Given the description of an element on the screen output the (x, y) to click on. 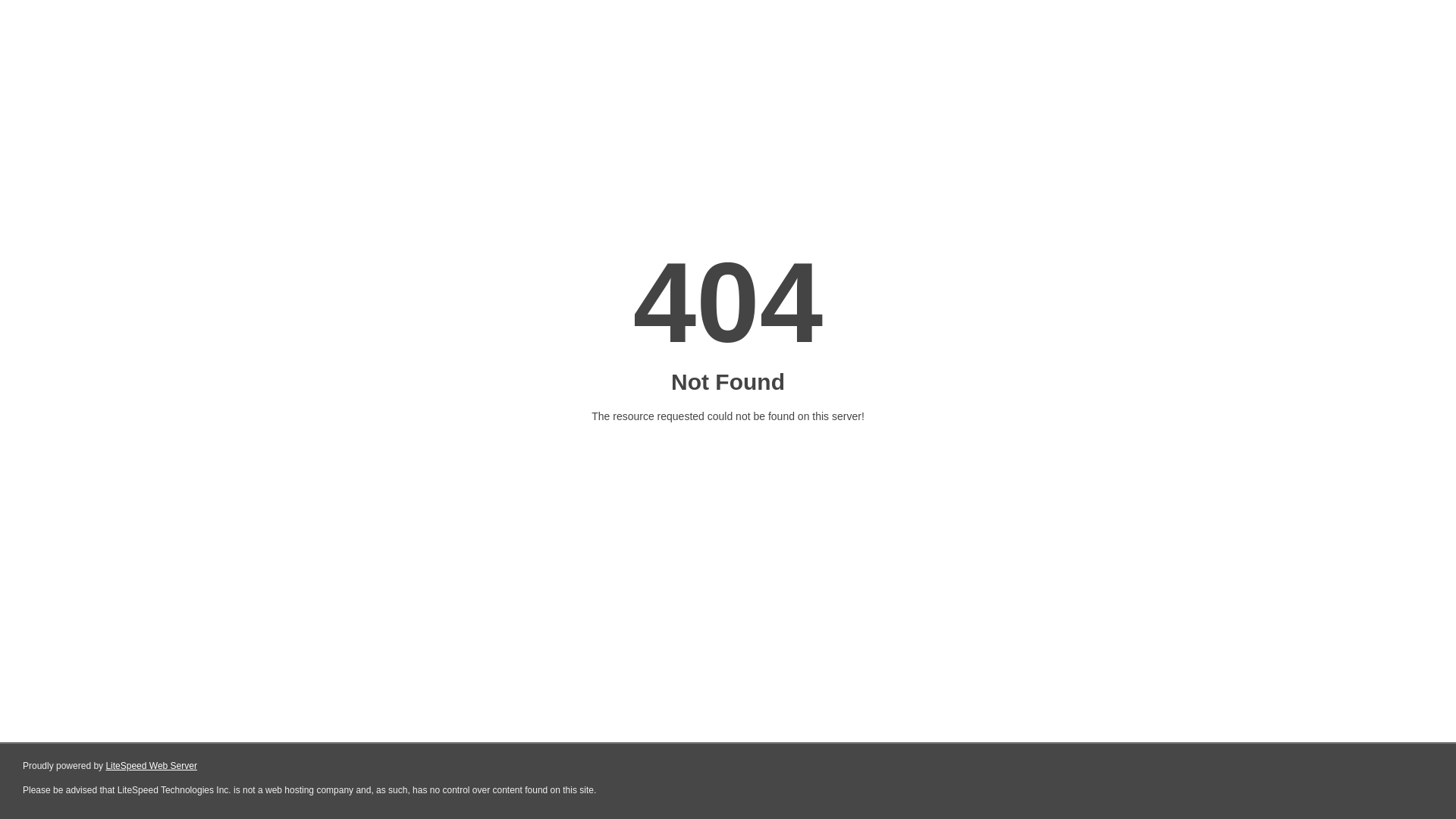
LiteSpeed Web Server Element type: text (151, 765)
